Given the description of an element on the screen output the (x, y) to click on. 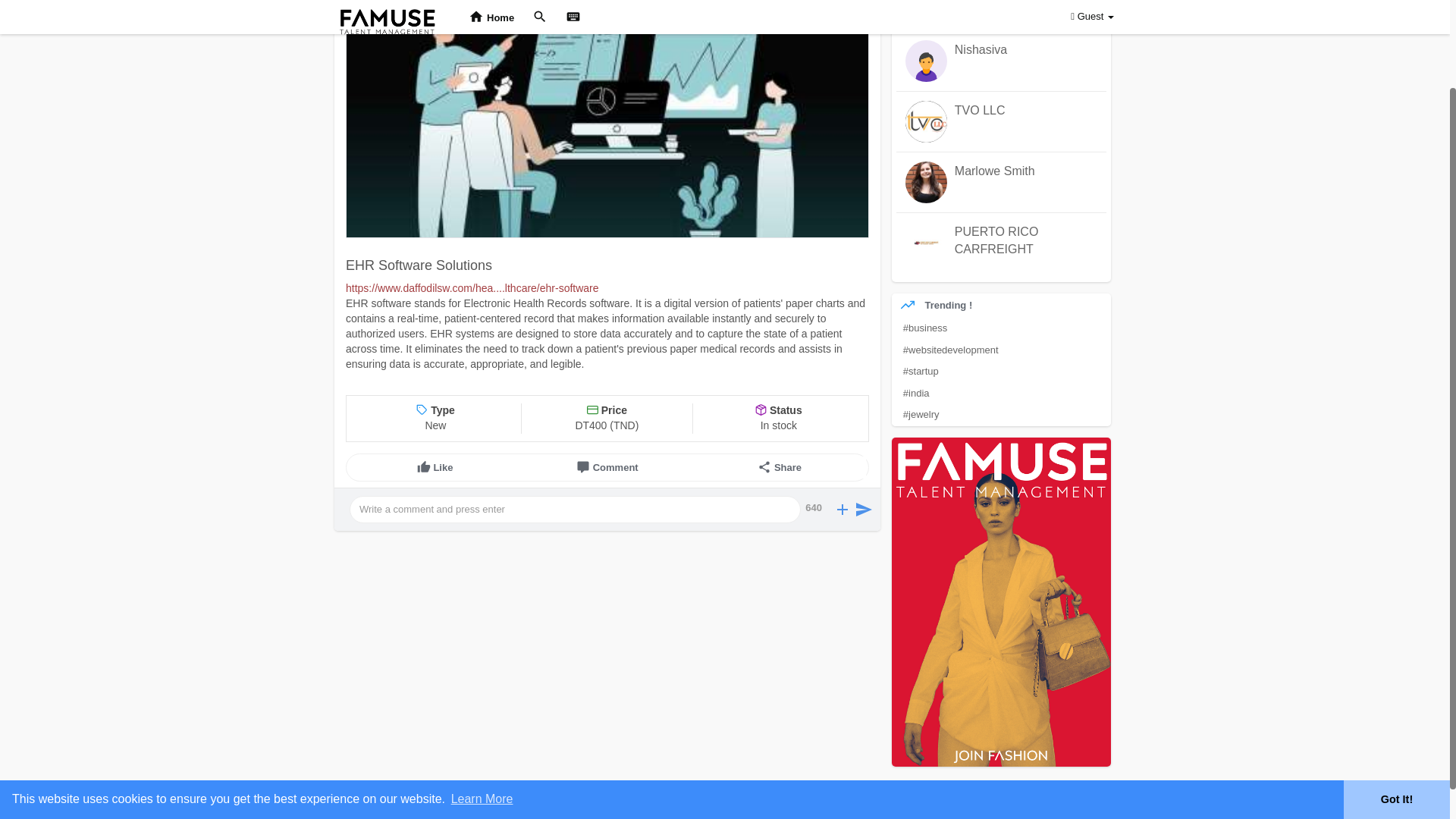
Comments (607, 467)
Language (1084, 787)
Marlowe Smith (995, 170)
Nishasiva (1026, 49)
PUERTO RICO CARFREIGHT (1026, 240)
Marlowe Smith (1026, 171)
TVO LLC (980, 110)
PUERTO RICO CARFREIGHT (997, 240)
Learn More (481, 695)
Nishasiva (981, 49)
Share (780, 467)
TVO LLC (1026, 110)
Like (435, 467)
